Given the description of an element on the screen output the (x, y) to click on. 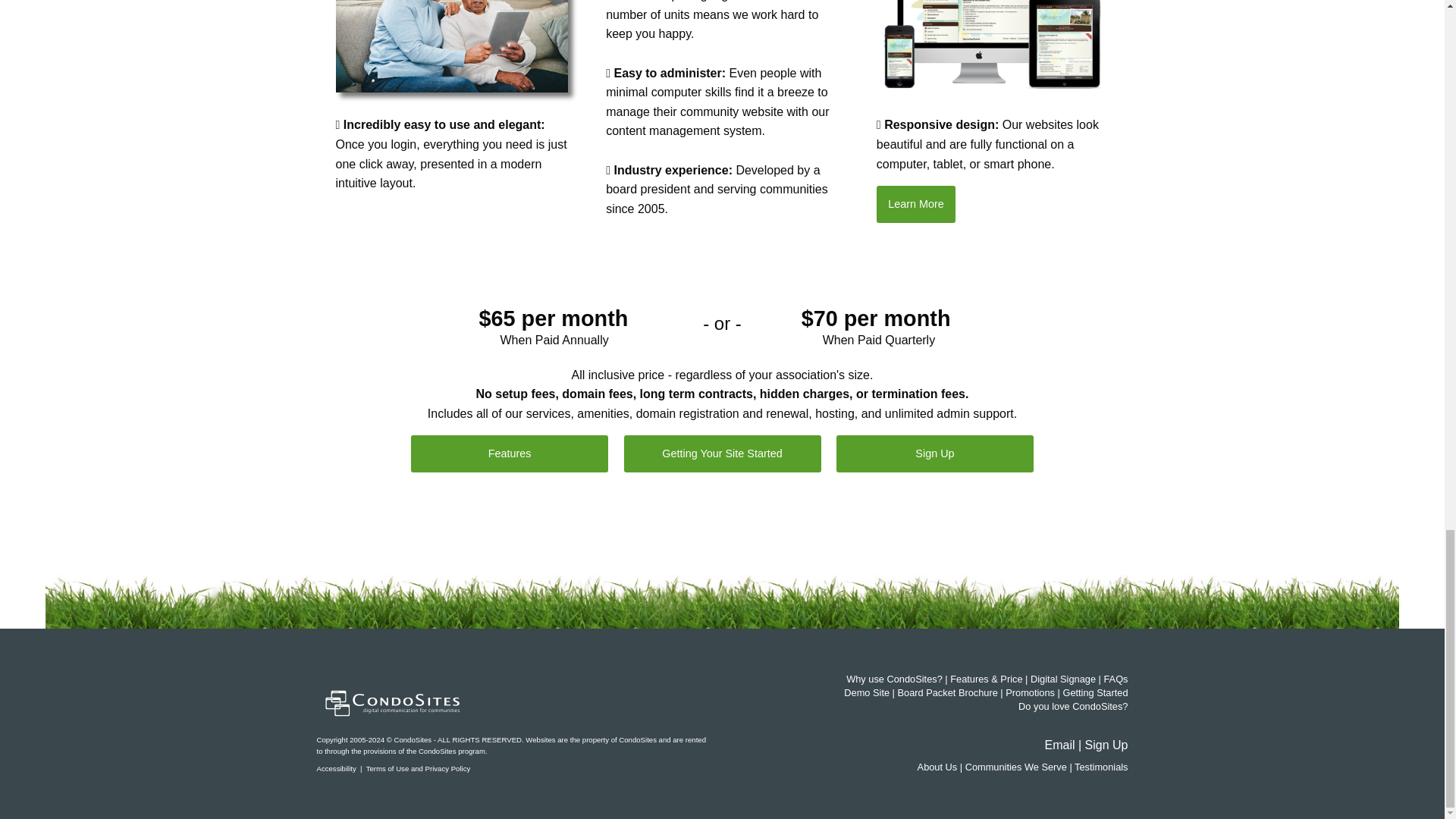
Getting Your Site Started (722, 452)
Sign Up (934, 452)
Features (509, 452)
Learn More (915, 203)
